Given the description of an element on the screen output the (x, y) to click on. 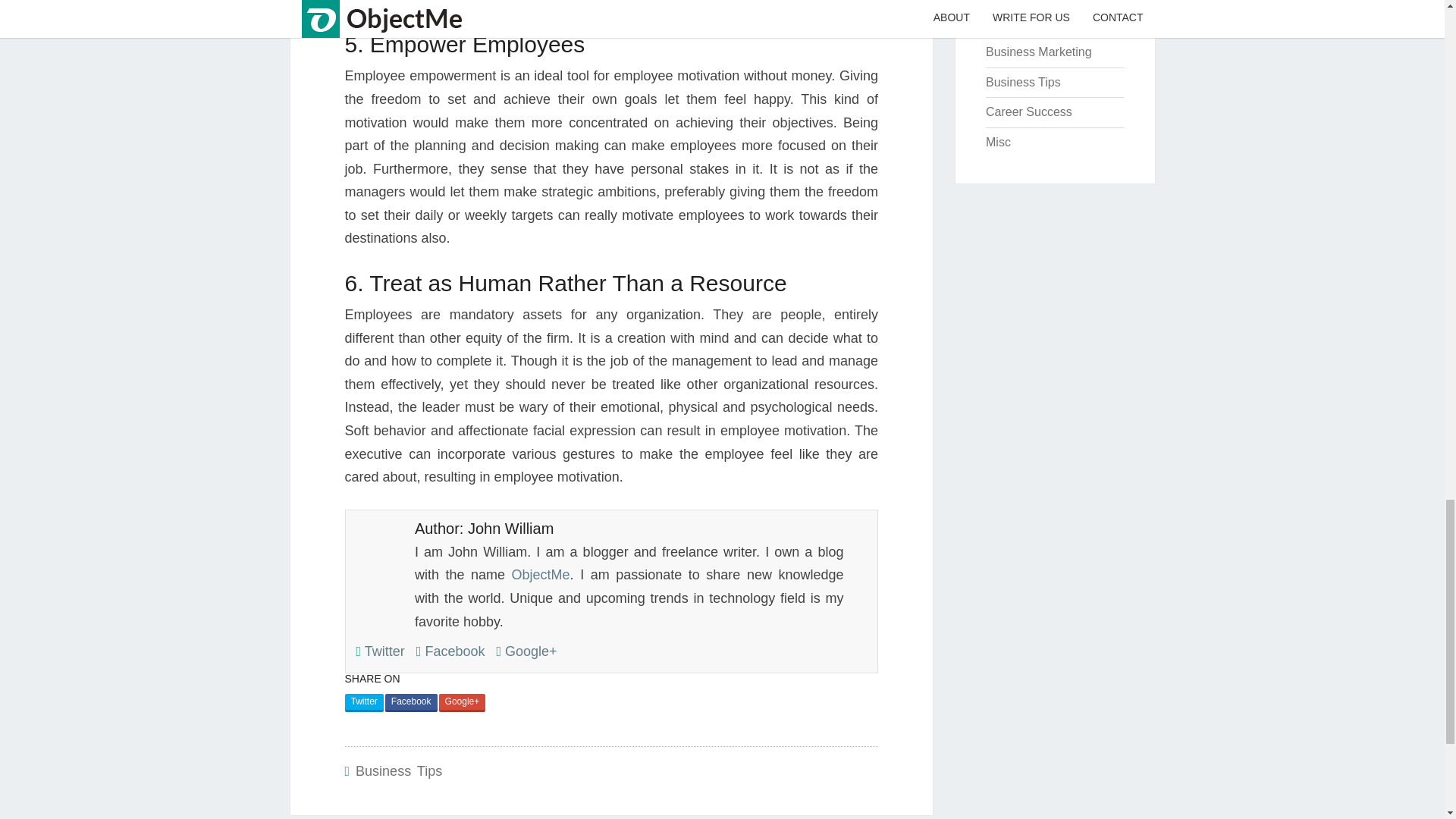
ObjectMe (541, 574)
Business Tips (1023, 82)
Career Success (1028, 111)
Facebook (411, 702)
Twitter (362, 702)
Misc (997, 141)
Business Tips (398, 770)
Twitter (380, 651)
Facebook (450, 651)
Business Marketing (1038, 51)
